Given the description of an element on the screen output the (x, y) to click on. 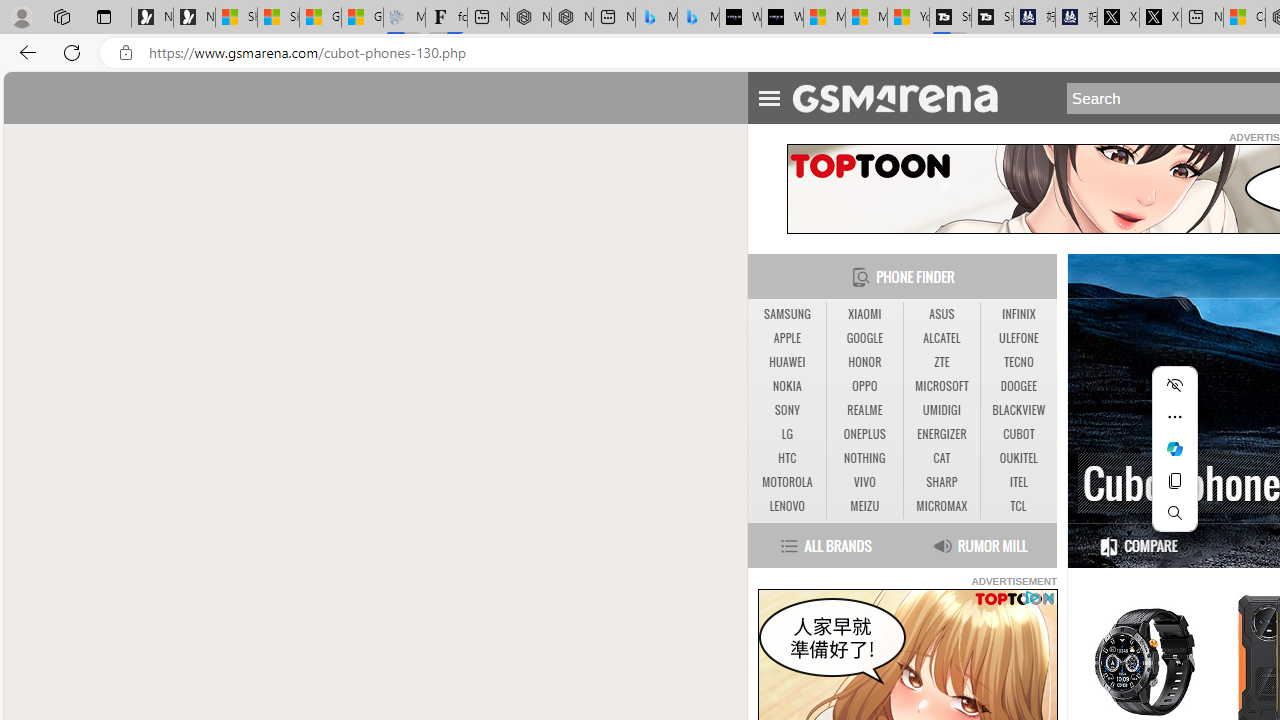
BLACKVIEW (1018, 411)
APPLE (786, 339)
GOOGLE (864, 339)
MOTOROLA (786, 483)
NOKIA (786, 385)
Microsoft Bing Travel - Shangri-La Hotel Bangkok (698, 17)
VIVO (864, 483)
ULEFONE (1018, 338)
HTC (786, 457)
Nordace - #1 Japanese Best-Seller - Siena Smart Backpack (571, 17)
UMIDIGI (941, 410)
LG (786, 434)
